Given the description of an element on the screen output the (x, y) to click on. 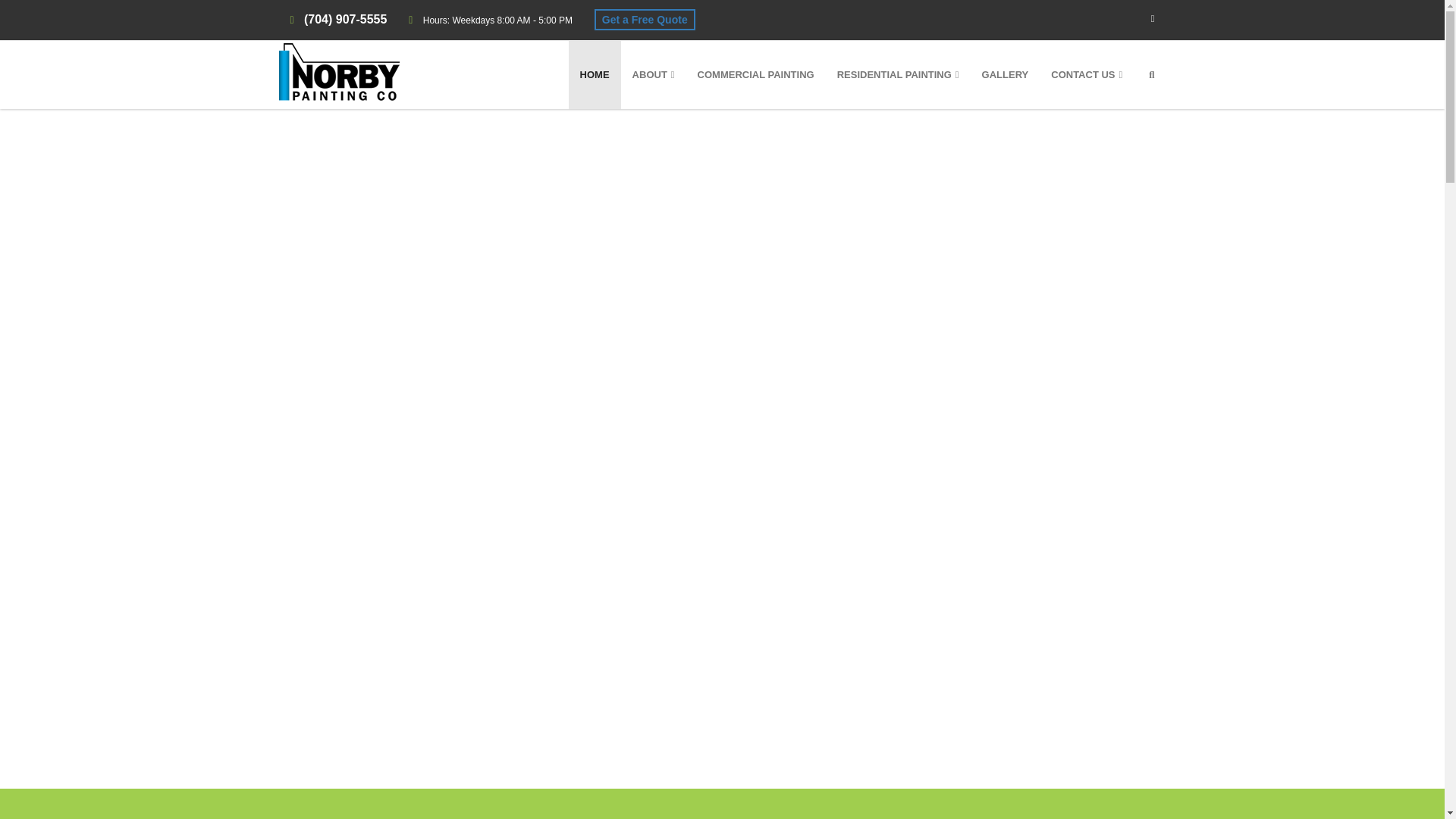
Get a Free Quote (644, 19)
Residential Painting (898, 74)
Contact  Us (1086, 74)
COMMERCIAL PAINTING (755, 74)
Commercial Painting (755, 74)
CONTACT US (1086, 74)
About (653, 74)
ABOUT (653, 74)
RESIDENTIAL PAINTING (898, 74)
Norby Painting (338, 71)
Gallery (1006, 74)
GALLERY (1006, 74)
